Given the description of an element on the screen output the (x, y) to click on. 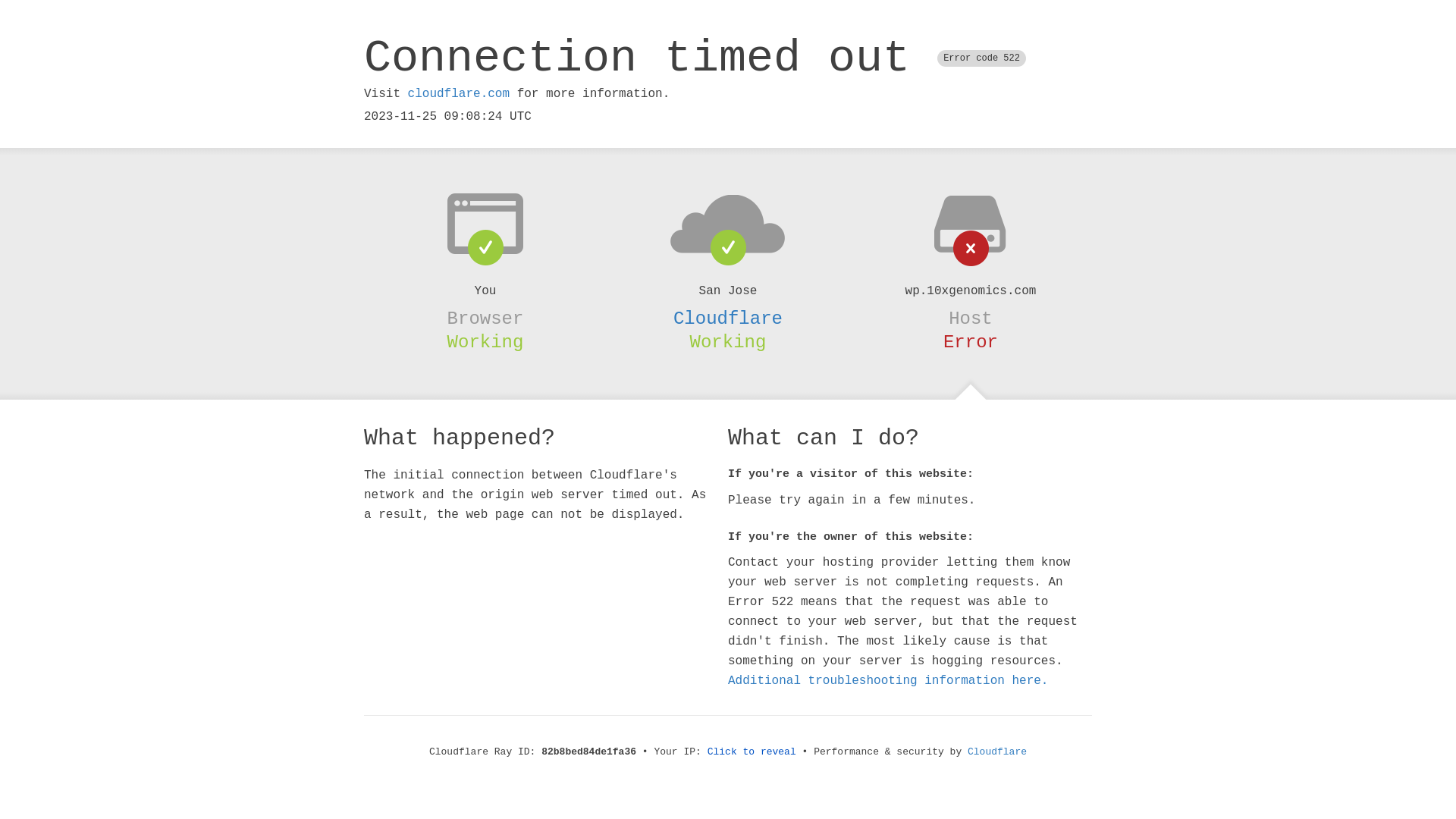
Cloudflare Element type: text (727, 318)
cloudflare.com Element type: text (458, 93)
Additional troubleshooting information here. Element type: text (888, 680)
Click to reveal Element type: text (751, 751)
Cloudflare Element type: text (996, 751)
